Given the description of an element on the screen output the (x, y) to click on. 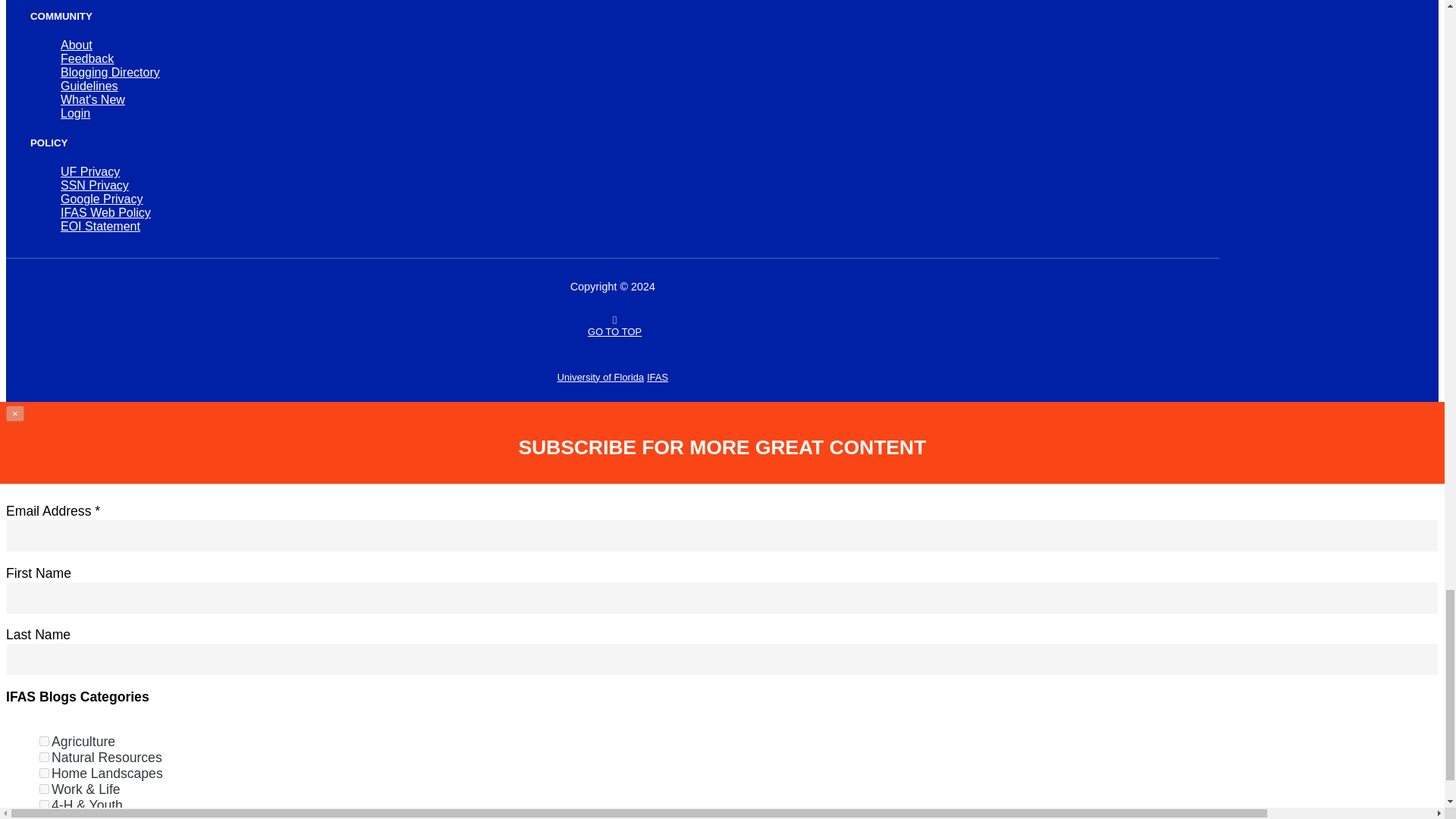
32 (44, 817)
16 (44, 804)
1 (44, 741)
4 (44, 773)
2 (44, 757)
8 (44, 788)
